Given the description of an element on the screen output the (x, y) to click on. 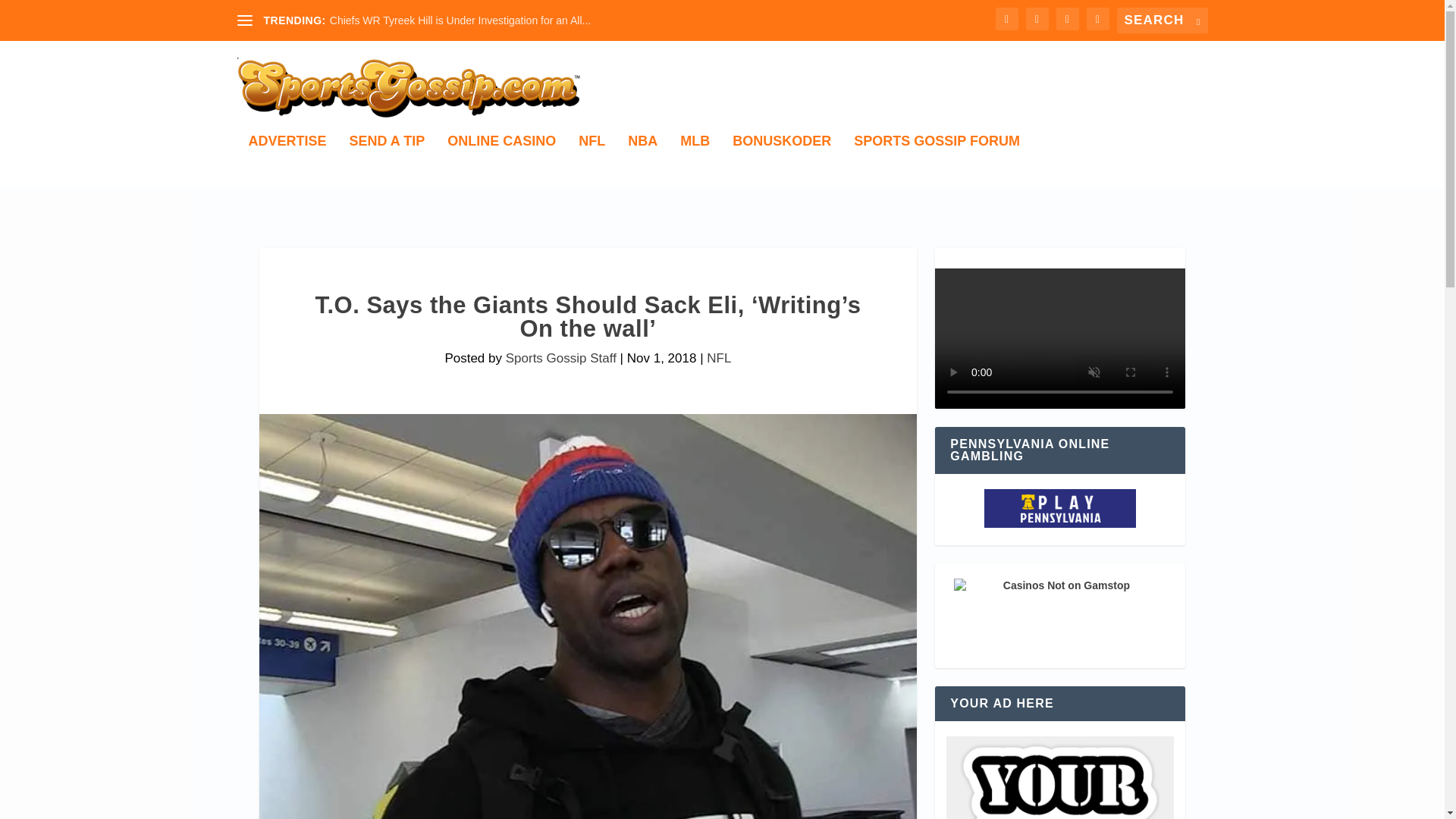
Search for: (1161, 20)
Chiefs WR Tyreek Hill is Under Investigation for an All... (460, 20)
NFL (718, 358)
ONLINE CASINO (501, 161)
Sports Gossip Staff (560, 358)
BONUSKODER (781, 161)
SPORTS GOSSIP FORUM (936, 161)
SEND A TIP (387, 161)
Casinos Not on Gamstop (1059, 616)
Posts by Sports Gossip Staff (560, 358)
ADVERTISE (287, 161)
